Given the description of an element on the screen output the (x, y) to click on. 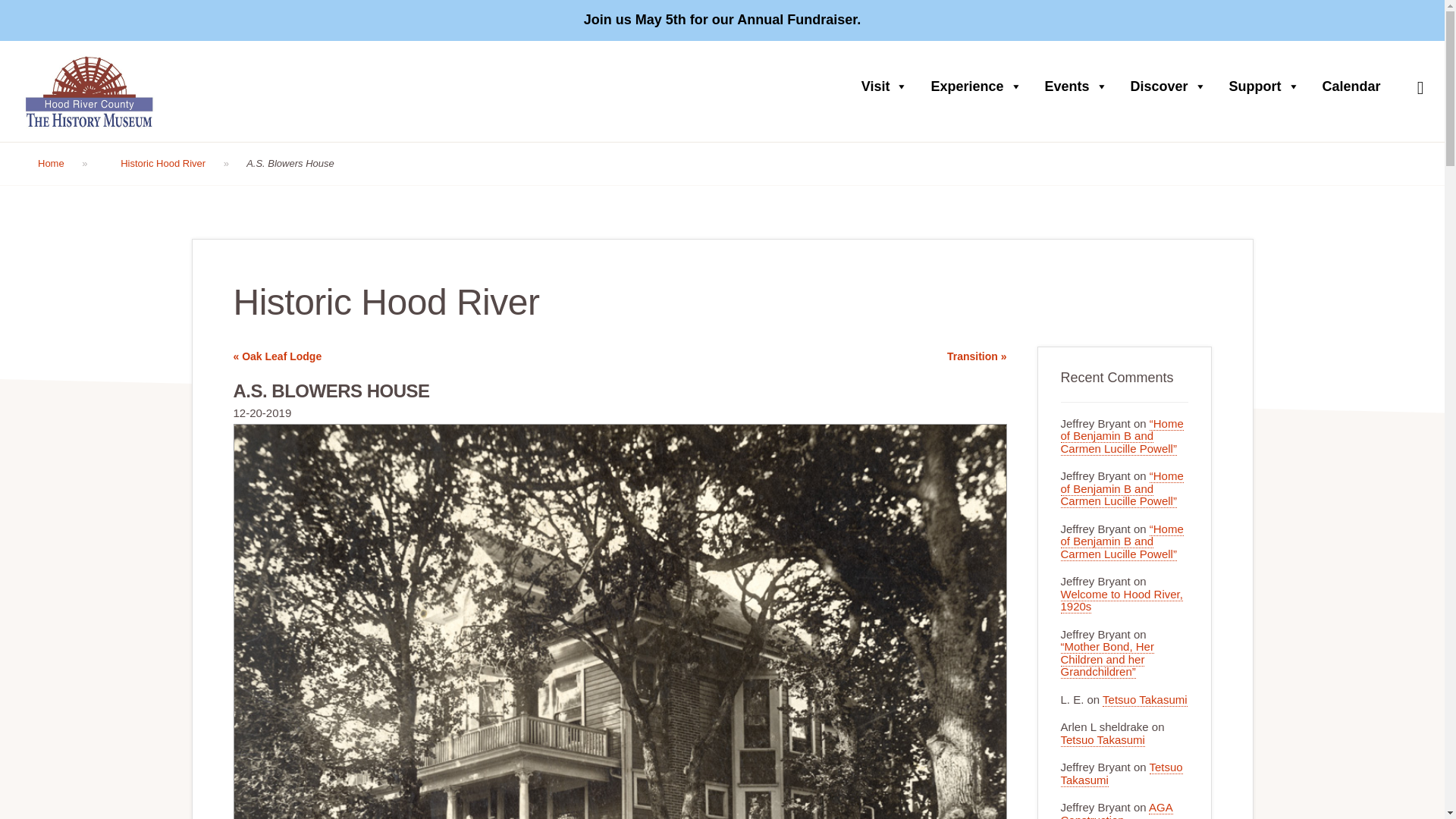
Discover (1171, 86)
Support (1267, 86)
Historic Hood River (174, 163)
Donate (1282, 20)
Visit (888, 86)
Home (63, 163)
Experience (979, 86)
Become A Member (1366, 20)
Calendar (1355, 86)
Events (1079, 86)
Subscribe (1043, 737)
